Given the description of an element on the screen output the (x, y) to click on. 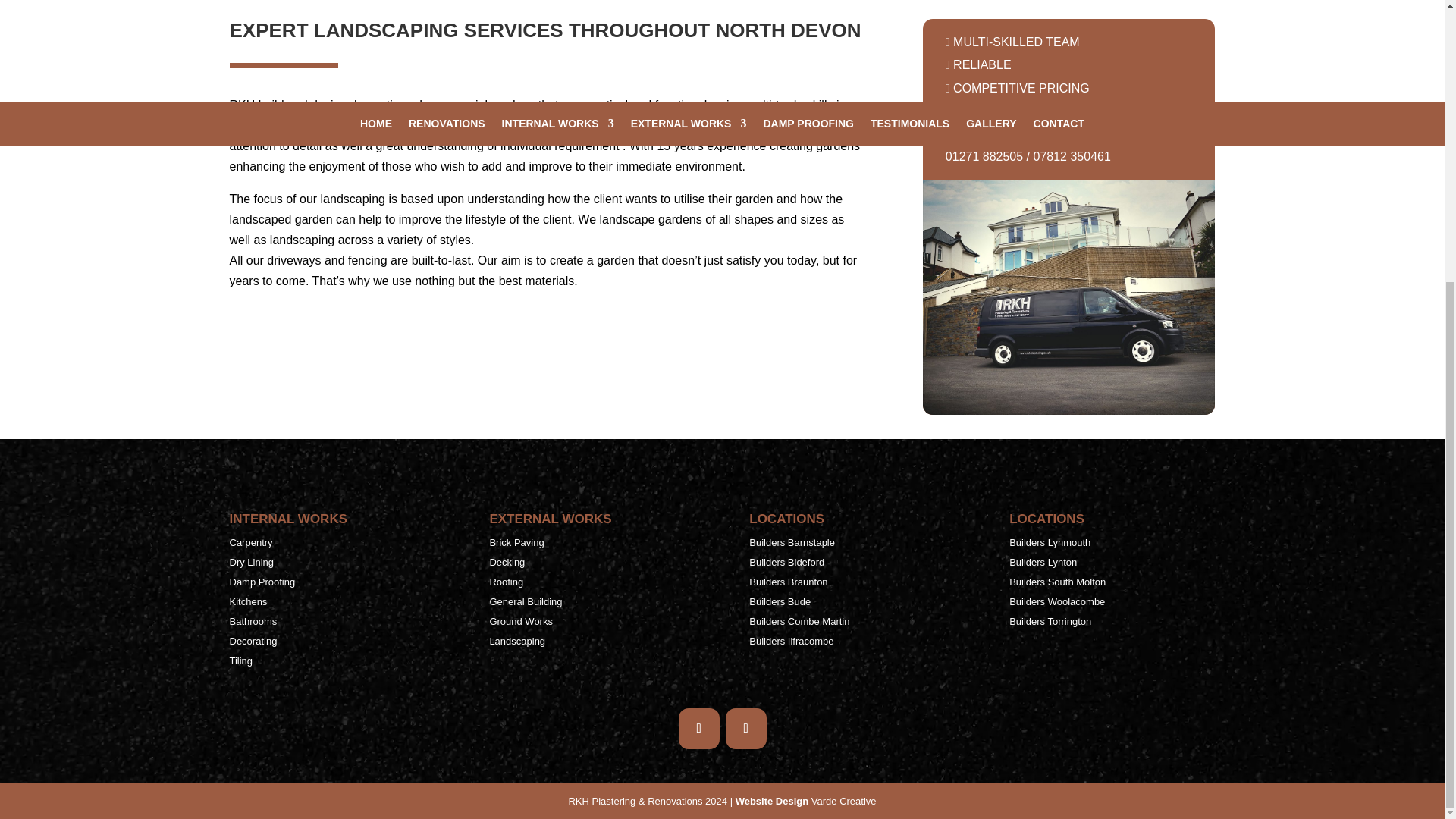
Follow on Instagram (745, 728)
Follow on Facebook (698, 728)
RKH Van (1069, 296)
